Given the description of an element on the screen output the (x, y) to click on. 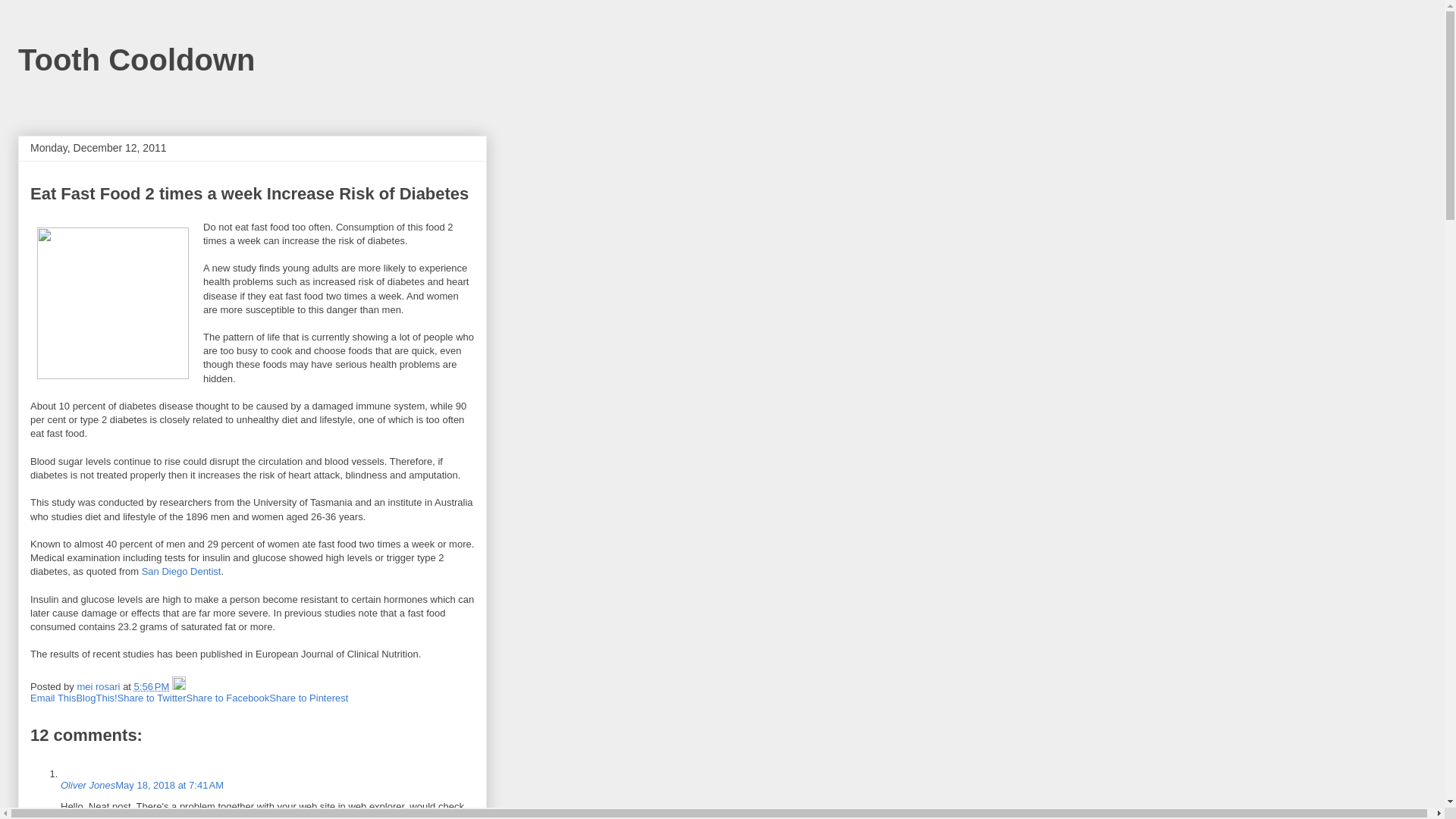
Tooth Cooldown Element type: text (136, 59)
San Diego Dentist Element type: text (181, 571)
Edit Post Element type: hover (178, 686)
BlogThis! Element type: text (95, 697)
Email This Element type: text (52, 697)
mei rosari Element type: text (99, 686)
Share to Twitter Element type: text (151, 697)
Share to Pinterest Element type: text (308, 697)
Oliver Jones Element type: text (87, 784)
Share to Facebook Element type: text (227, 697)
